Given the description of an element on the screen output the (x, y) to click on. 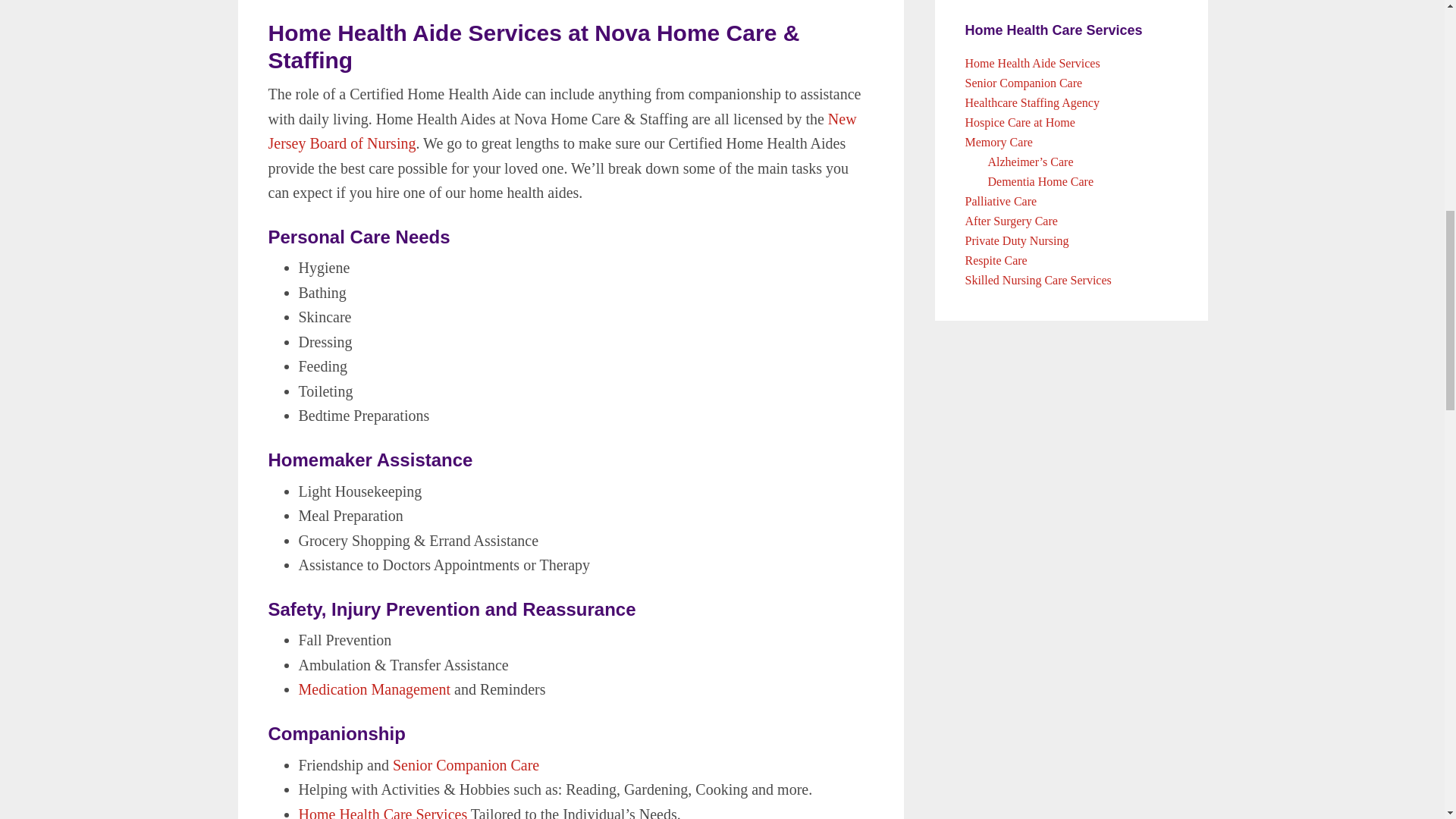
Home Health Care Services (382, 812)
Private Duty Nursing (1015, 240)
Hospice Care at Home (1018, 122)
Respite Care (994, 259)
Home Health Aide Services (1031, 62)
Senior Companion Care (1022, 82)
Palliative Care (999, 201)
Memory Care (997, 141)
New Jersey Board of Nursing (562, 131)
Dementia Home Care (1040, 181)
Skilled Nursing Care Services (1036, 279)
Senior Companion Care (465, 764)
After Surgery Care (1010, 220)
Medication Management (374, 688)
Healthcare Staffing Agency (1031, 102)
